Given the description of an element on the screen output the (x, y) to click on. 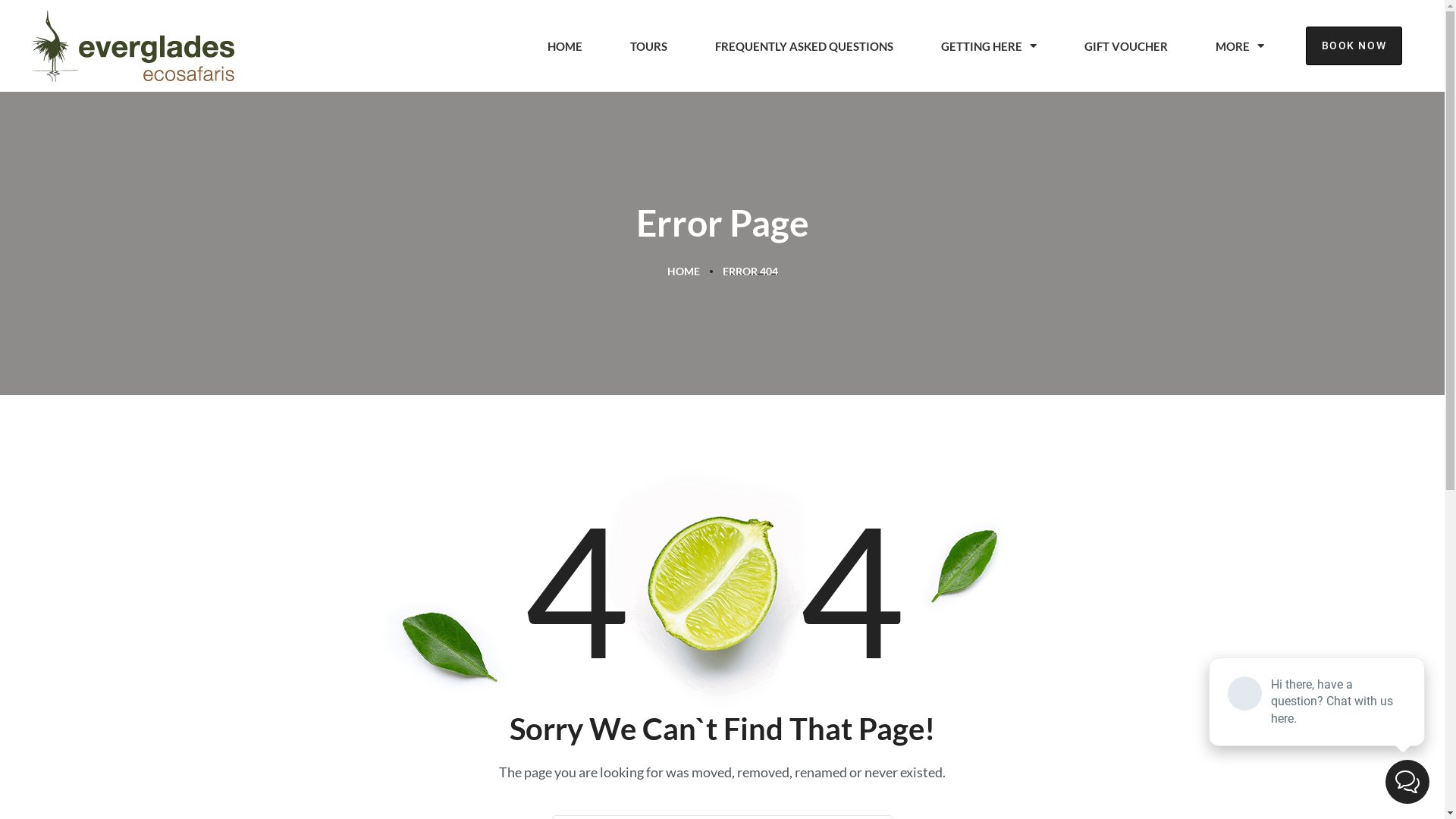
MORE Element type: text (1239, 45)
GIFT VOUCHER Element type: text (1126, 45)
TOURS Element type: text (649, 45)
HOME Element type: text (683, 269)
GETTING HERE Element type: text (989, 45)
BOOK NOW Element type: text (1353, 45)
FREQUENTLY ASKED QUESTIONS Element type: text (804, 45)
HOME Element type: text (565, 45)
